Given the description of an element on the screen output the (x, y) to click on. 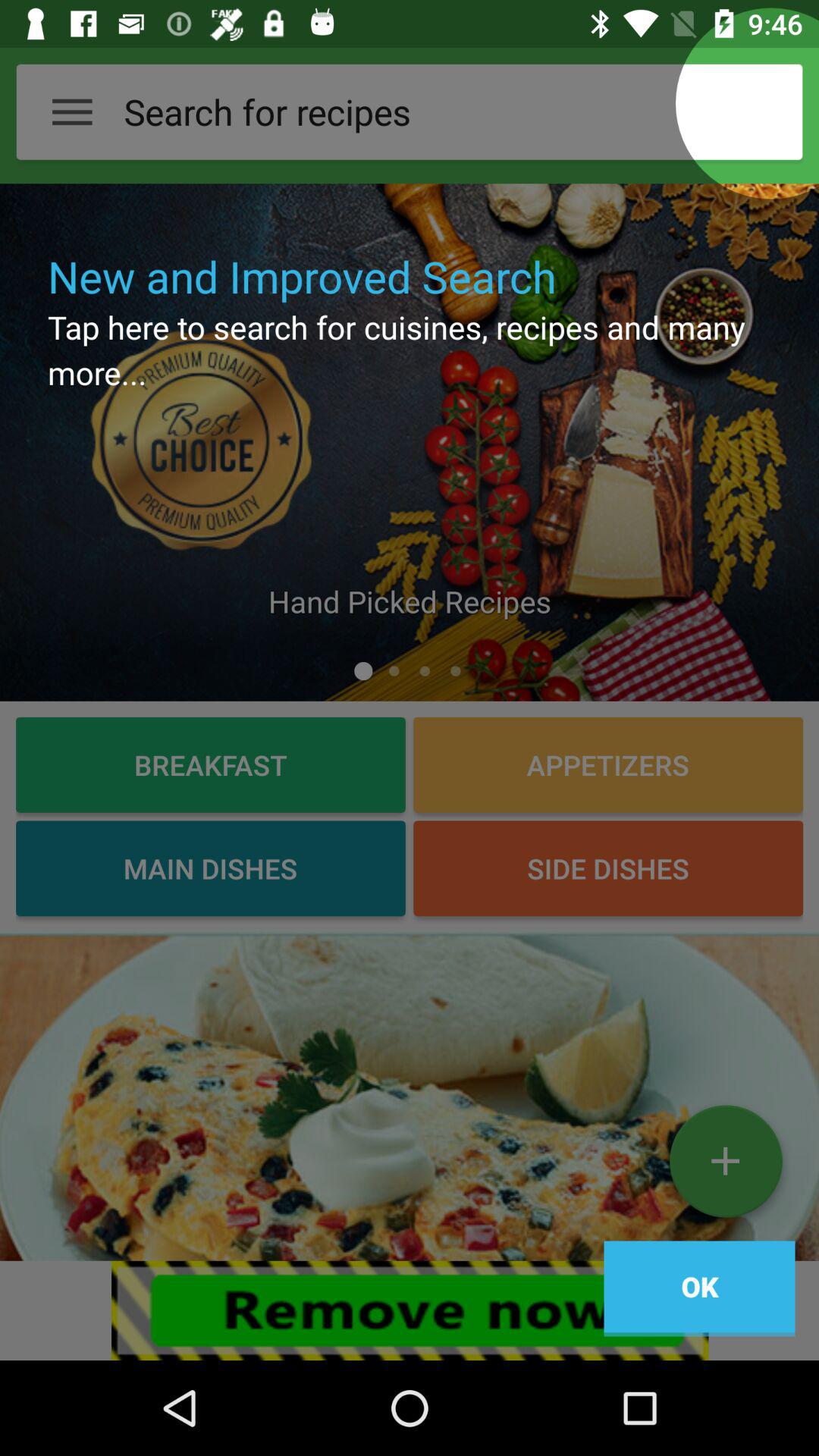
advertisement (409, 1096)
